Given the description of an element on the screen output the (x, y) to click on. 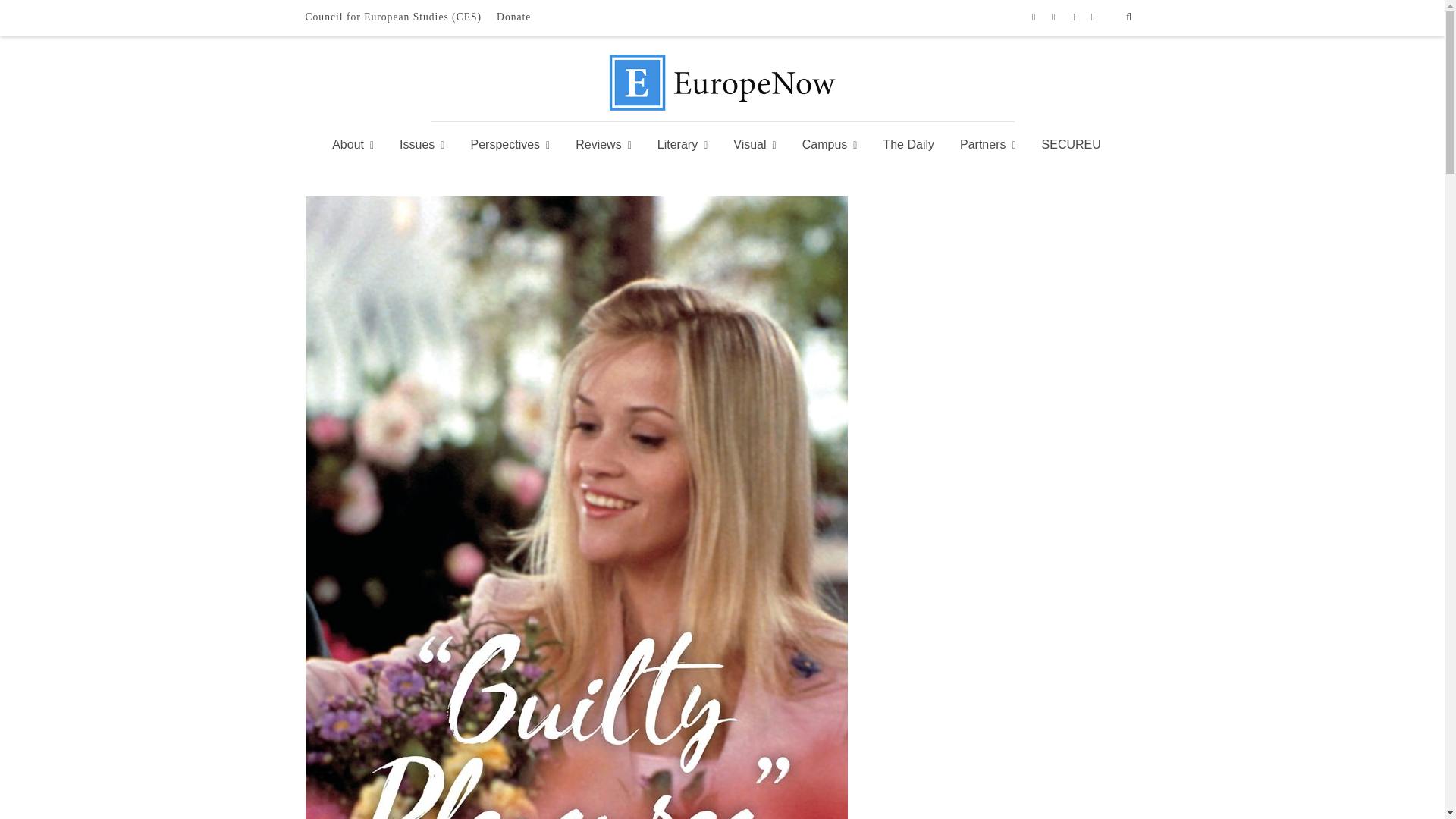
Literary (682, 145)
Reviews (603, 145)
Issues (421, 145)
Visual (754, 145)
Donate (513, 17)
Perspectives (509, 145)
EuropeNow (721, 107)
About (358, 145)
